Given the description of an element on the screen output the (x, y) to click on. 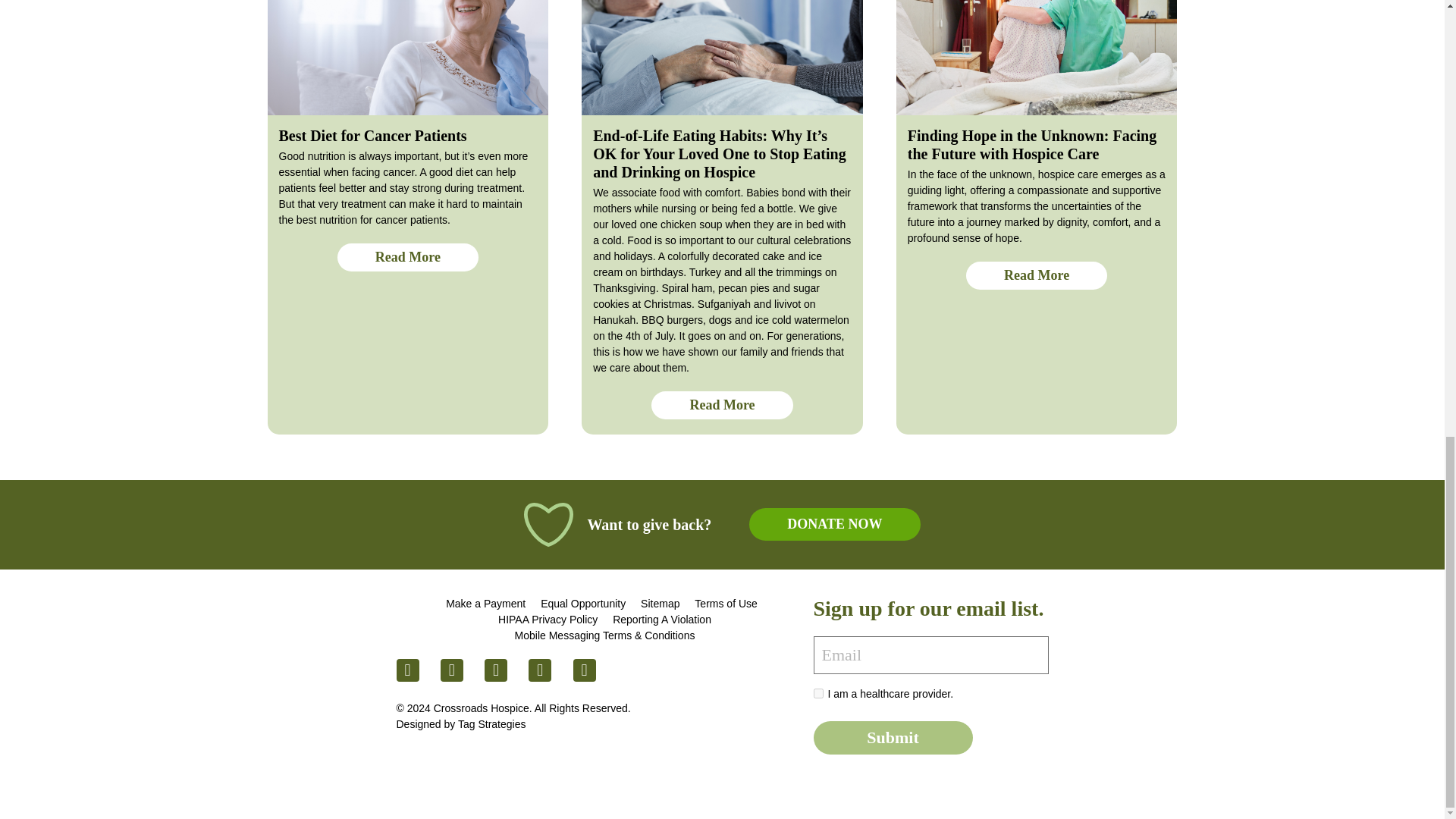
true (817, 693)
Submit (892, 737)
Post image (721, 57)
Post image (1036, 57)
Post image (407, 57)
